Given the description of an element on the screen output the (x, y) to click on. 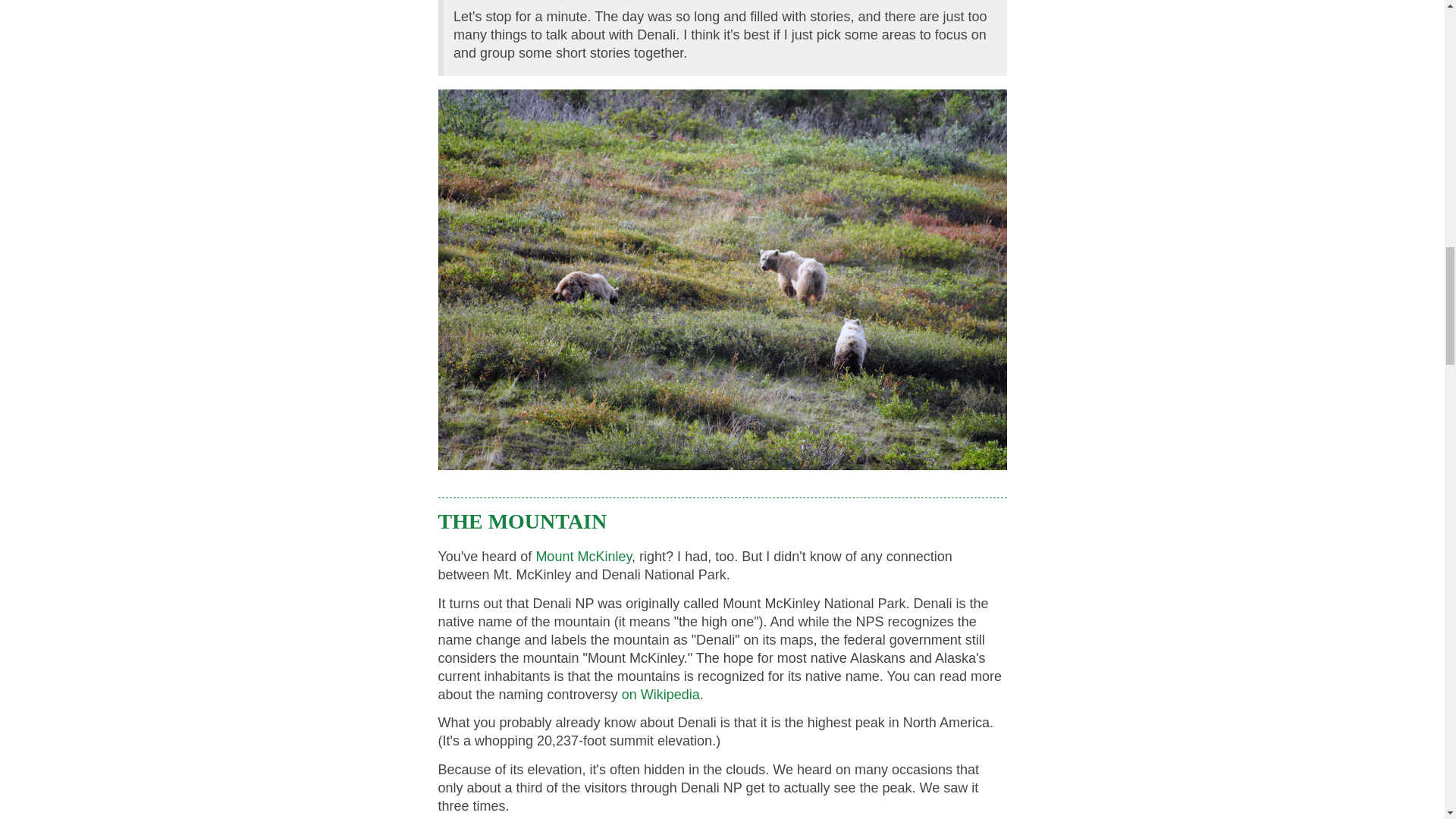
on Wikipedia (660, 694)
Mount McKinley (583, 556)
